Given the description of an element on the screen output the (x, y) to click on. 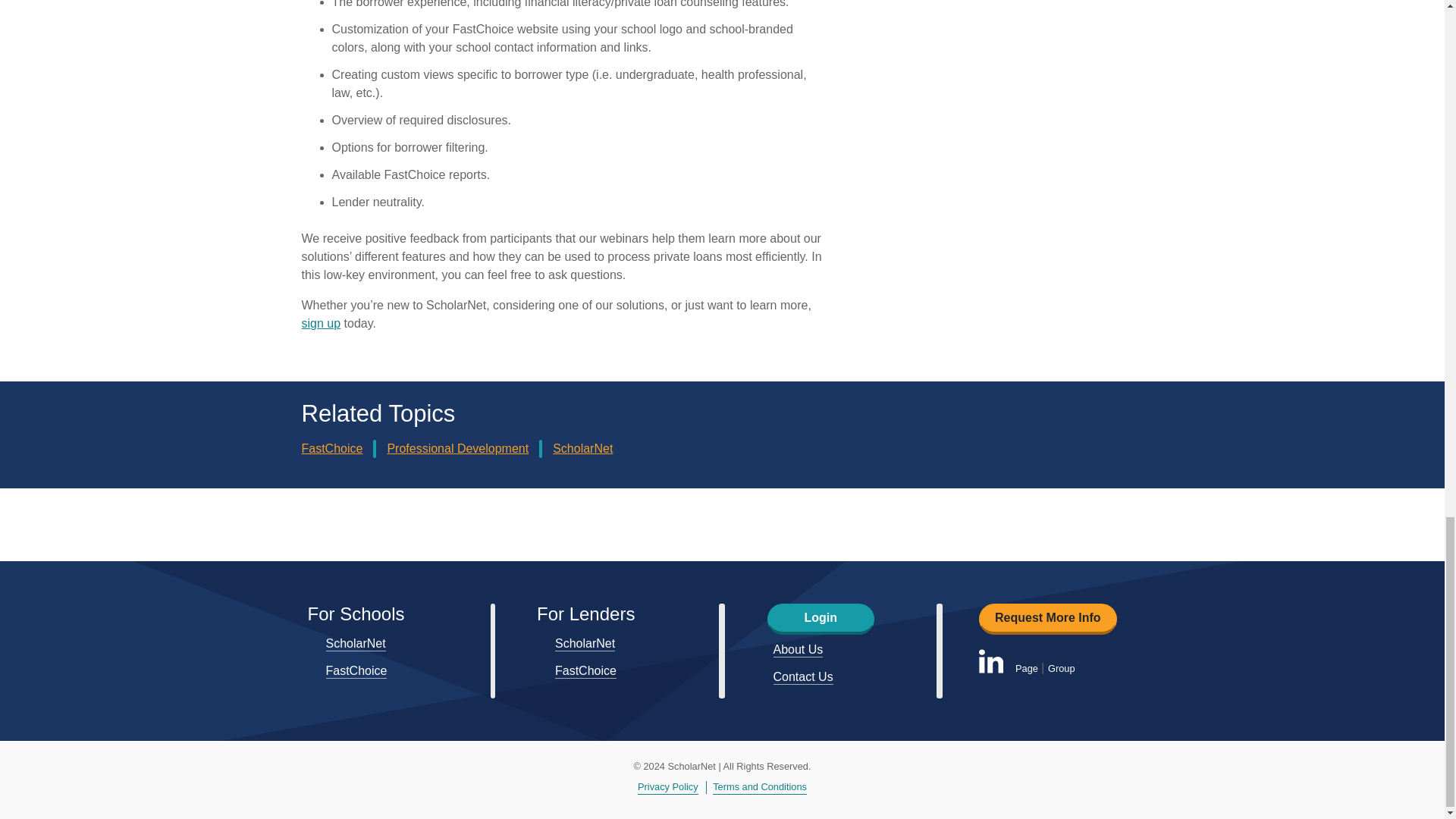
sign up (320, 323)
